Given the description of an element on the screen output the (x, y) to click on. 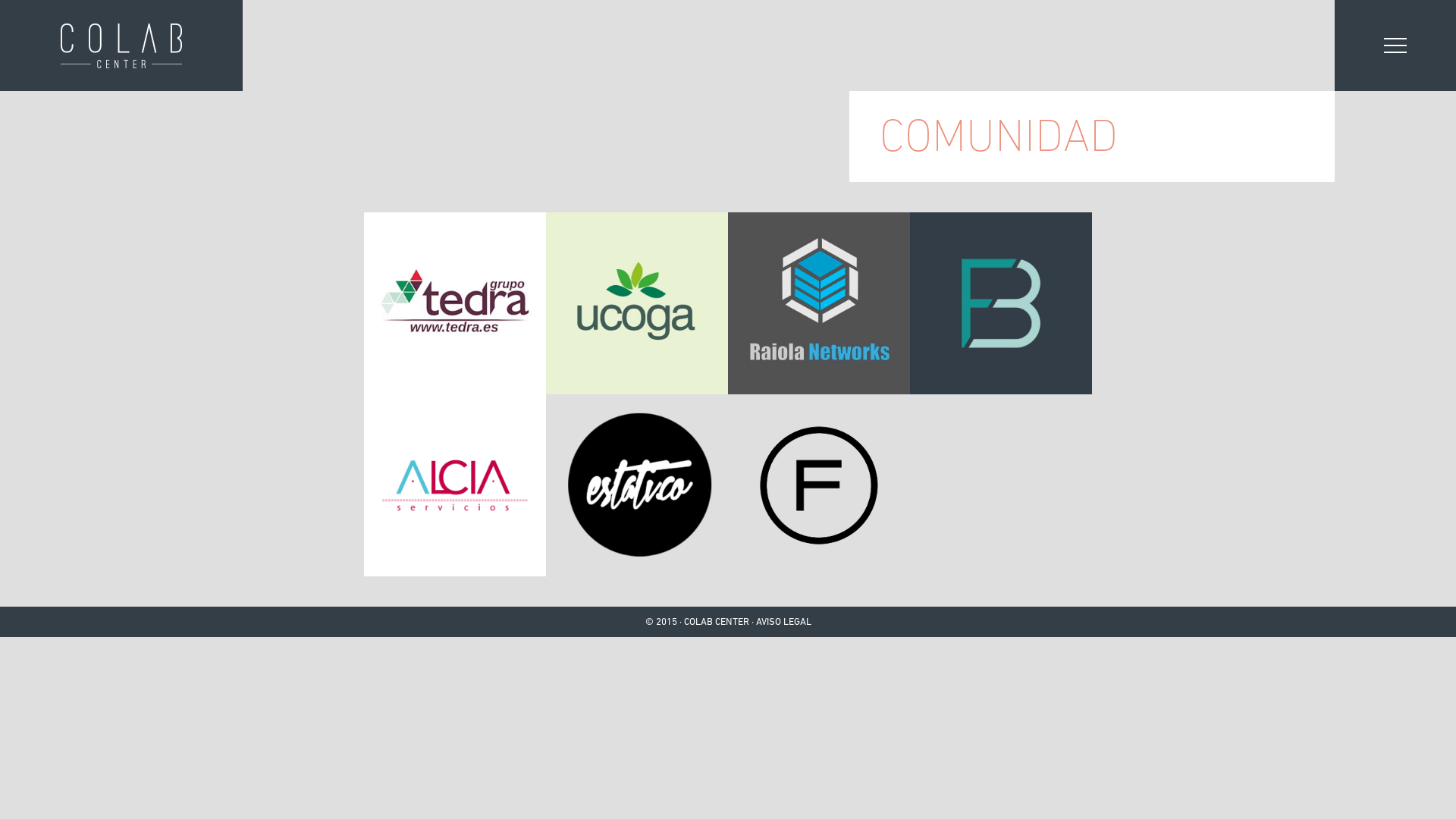
AVISO LEGAL Element type: text (782, 622)
